Given the description of an element on the screen output the (x, y) to click on. 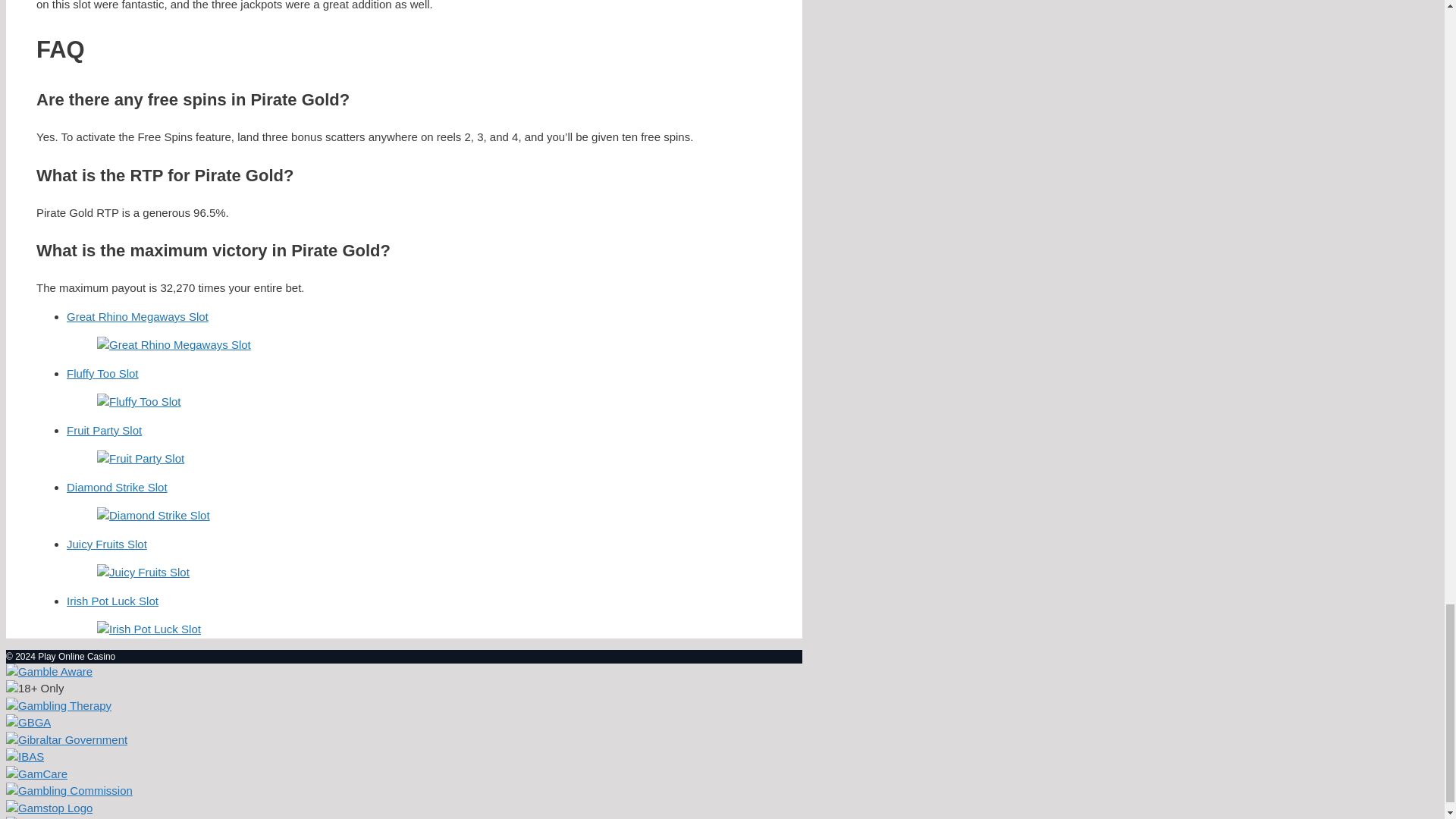
Diamond Strike Slot (418, 502)
Fruit Party Slot (418, 445)
Irish Pot Luck Slot (418, 616)
Fluffy Too Slot (418, 388)
Juicy Fruits Slot (418, 559)
Great Rhino Megaways Slot (418, 331)
